Given the description of an element on the screen output the (x, y) to click on. 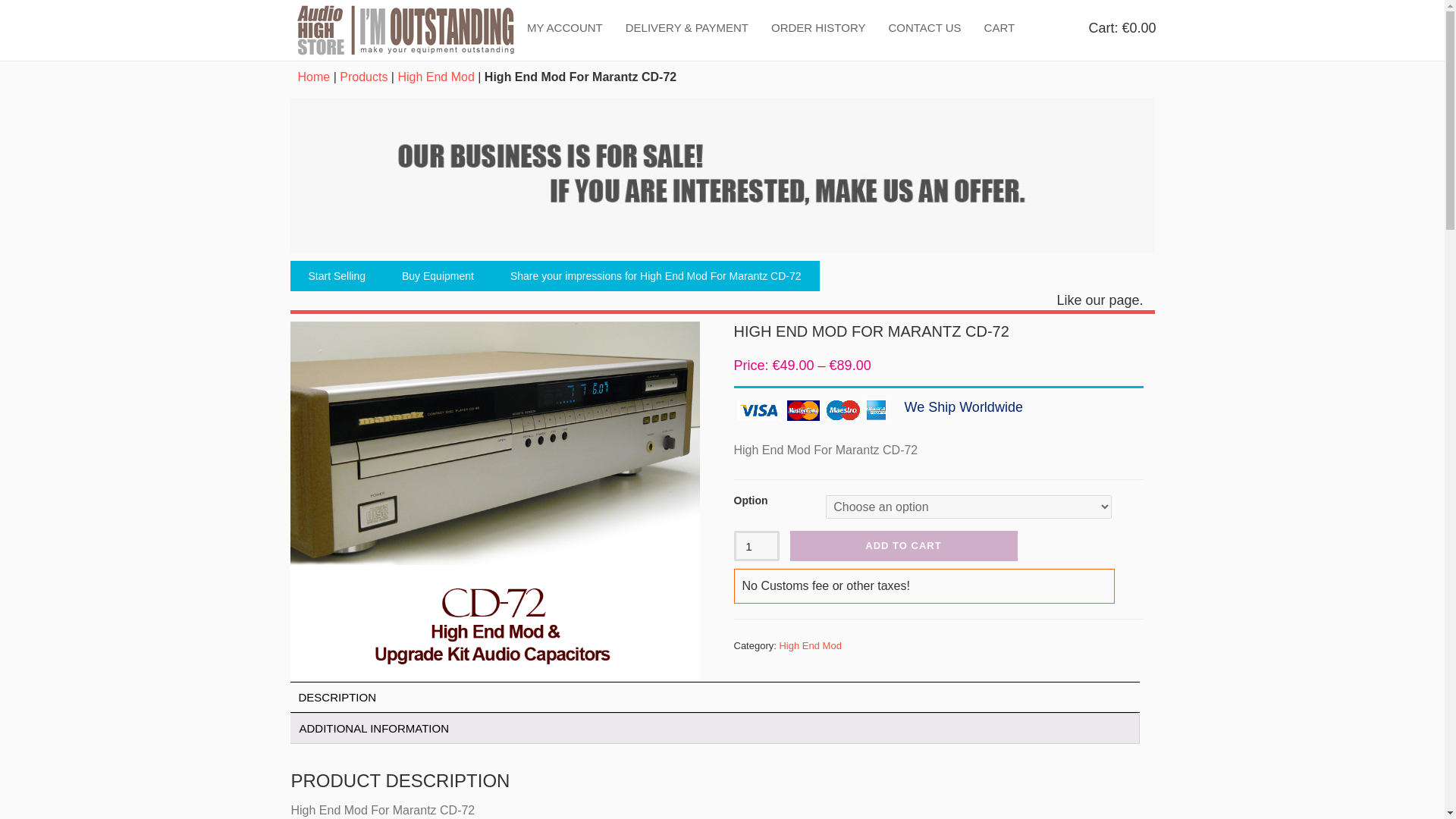
CART (999, 27)
Home (313, 76)
Products (363, 76)
Products (363, 76)
Qty (755, 545)
High End Mod (809, 645)
Audio High End Store (402, 30)
High End Mod For Marantz CD-72 (580, 76)
Home (313, 76)
DESCRIPTION (337, 696)
